Given the description of an element on the screen output the (x, y) to click on. 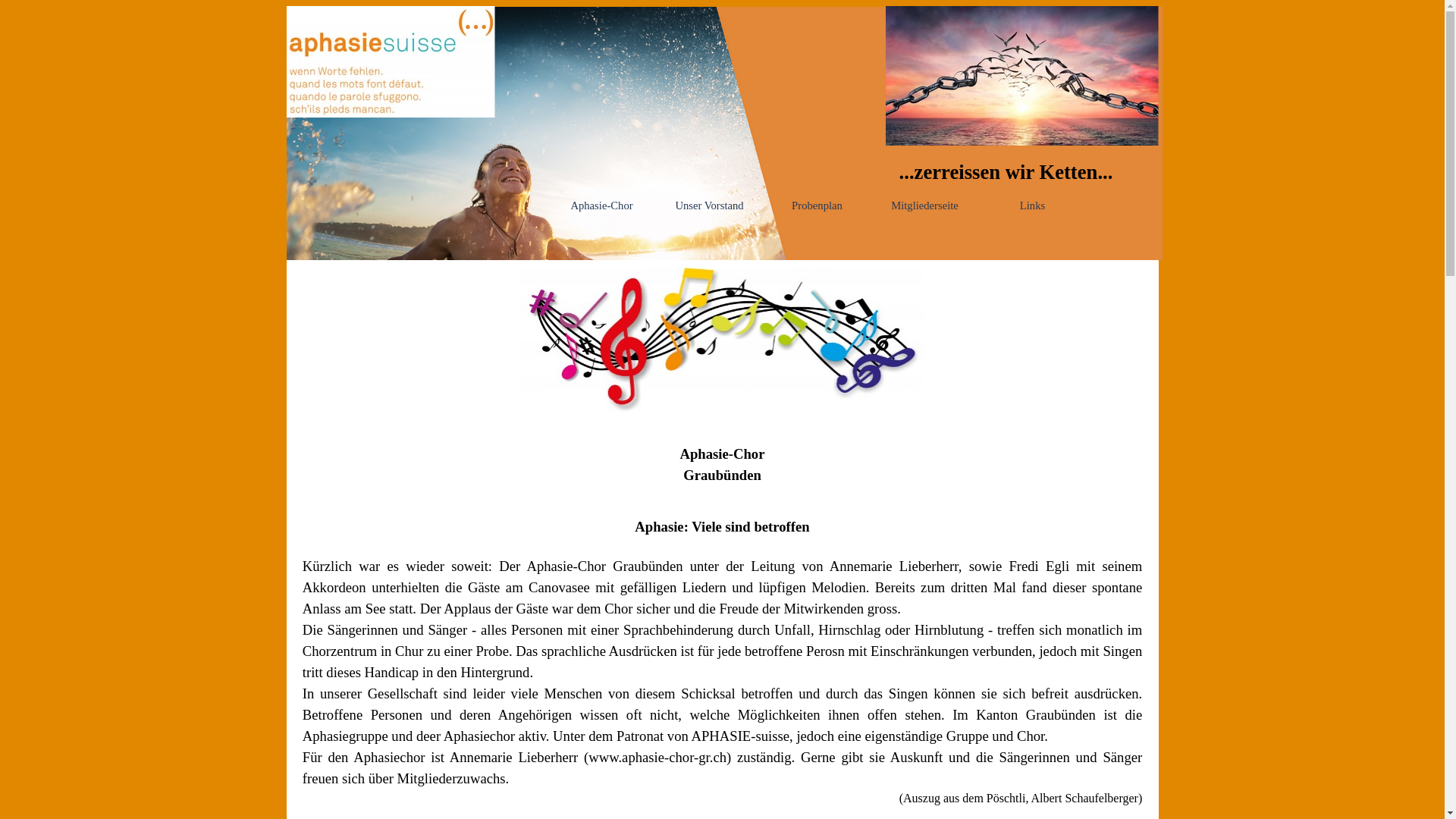
Probenplan Element type: text (816, 205)
Mitgliederseite Element type: text (924, 205)
Links Element type: text (1031, 205)
Unser Vorstand Element type: text (708, 205)
Aphasie-Chor Element type: text (601, 205)
